Given the description of an element on the screen output the (x, y) to click on. 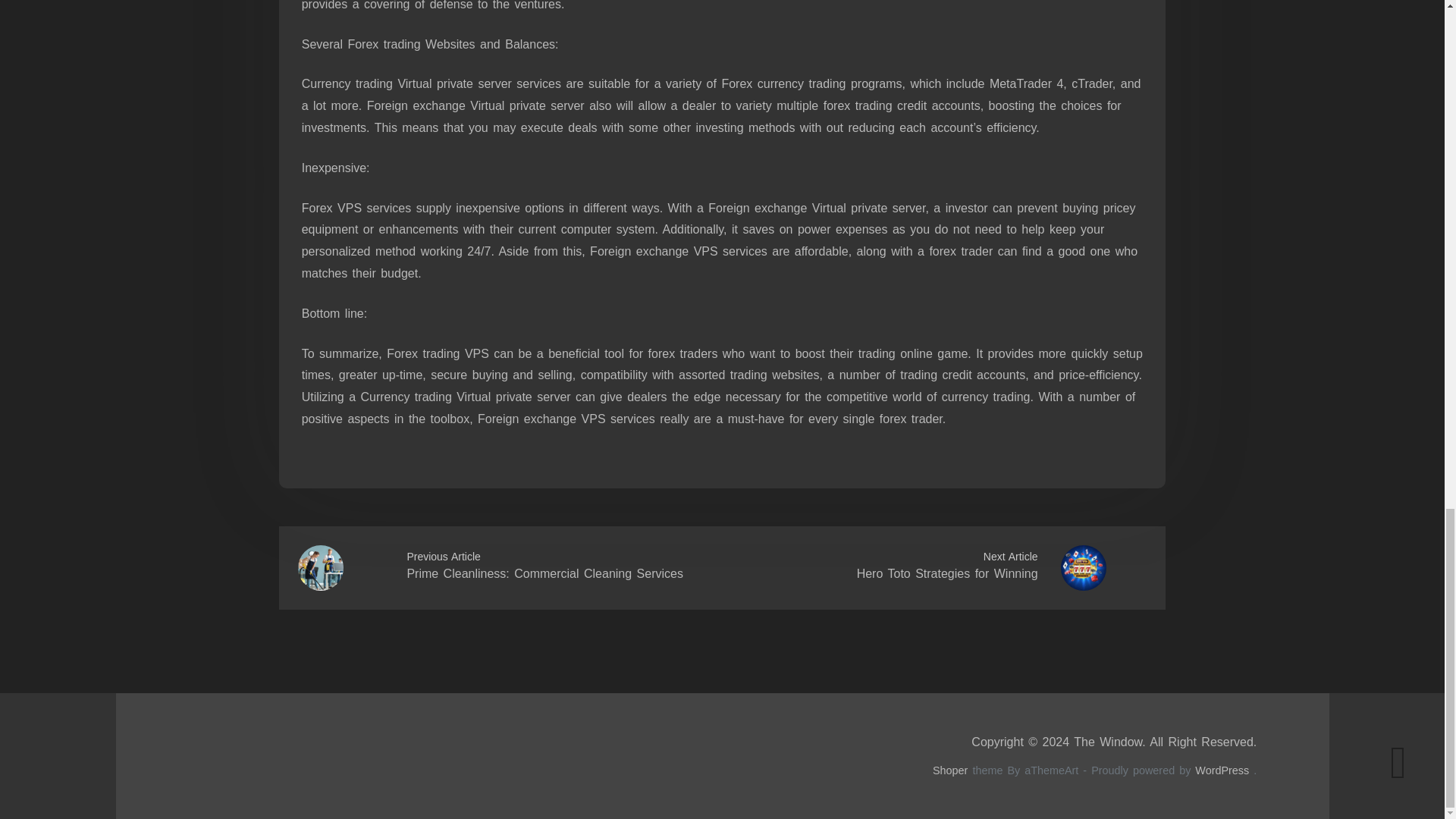
Prime Cleanliness: Commercial Cleaning Services (544, 573)
Shoper (950, 770)
WordPress (1222, 770)
Hero Toto Strategies for Winning (947, 573)
